Given the description of an element on the screen output the (x, y) to click on. 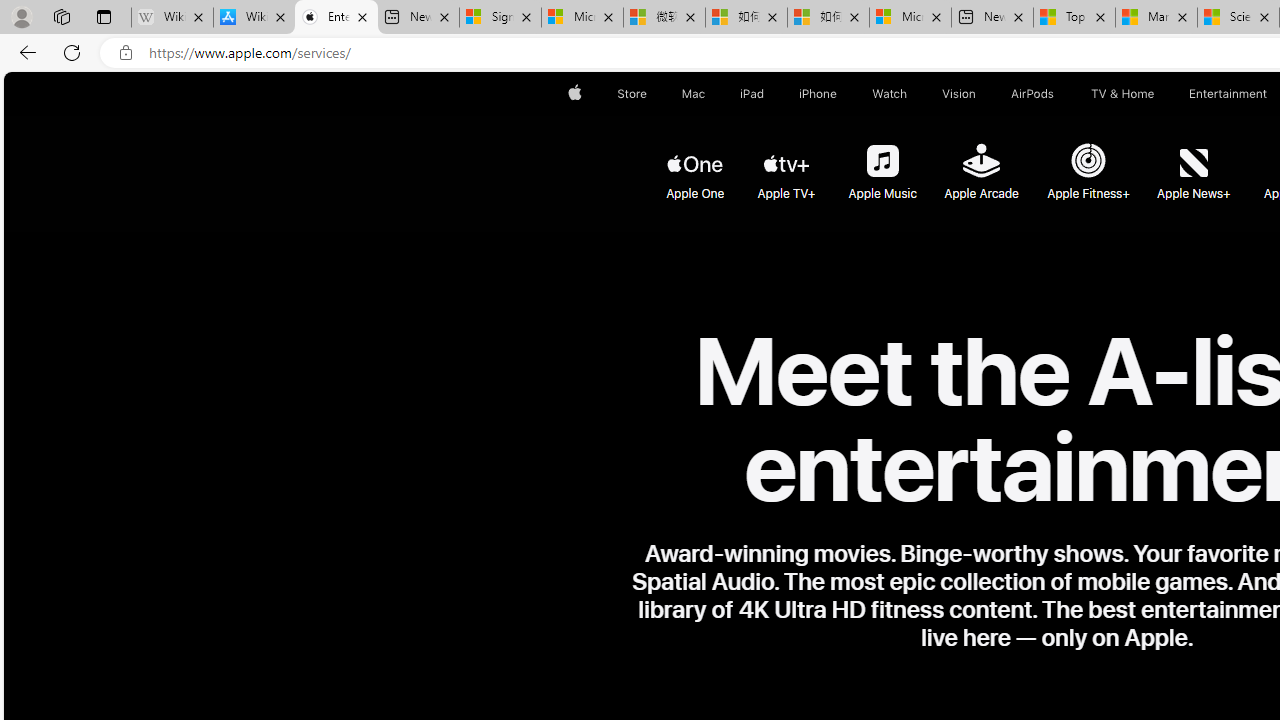
Apple News+ (1194, 164)
iPhone (818, 93)
Apple (574, 93)
Entertainment - Services - Apple (336, 17)
Apple Fitness+ (1088, 164)
Apple Fitness+ (1086, 162)
Vision (959, 93)
AirPods (1032, 93)
Microsoft account | Account Checkup (910, 17)
